Given the description of an element on the screen output the (x, y) to click on. 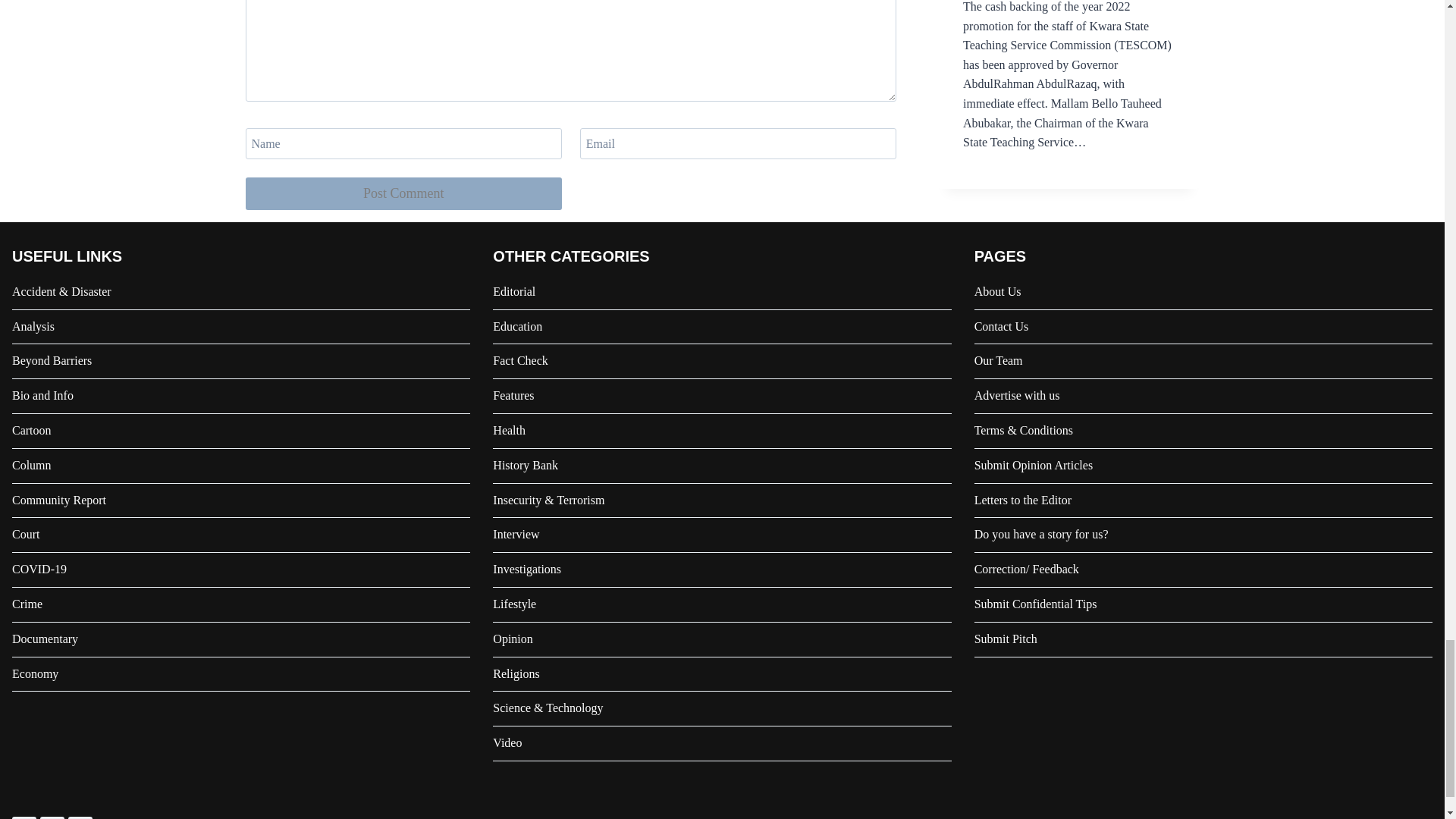
Post Comment (404, 193)
